Given the description of an element on the screen output the (x, y) to click on. 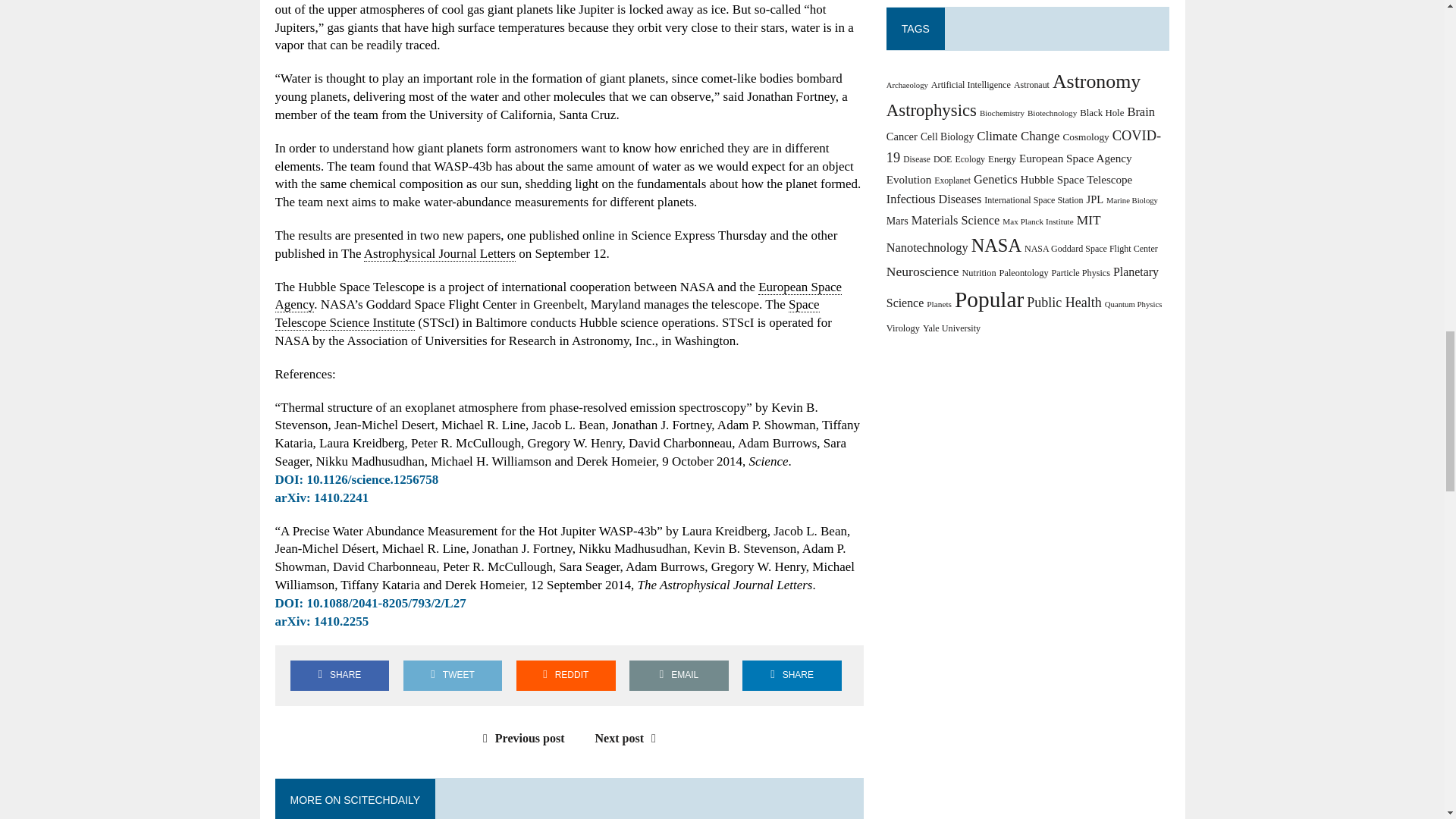
Tweet This Article (452, 675)
Share on Facebook (338, 675)
Share on LinkedIn (791, 675)
Post This Article to Reddit (565, 675)
